Given the description of an element on the screen output the (x, y) to click on. 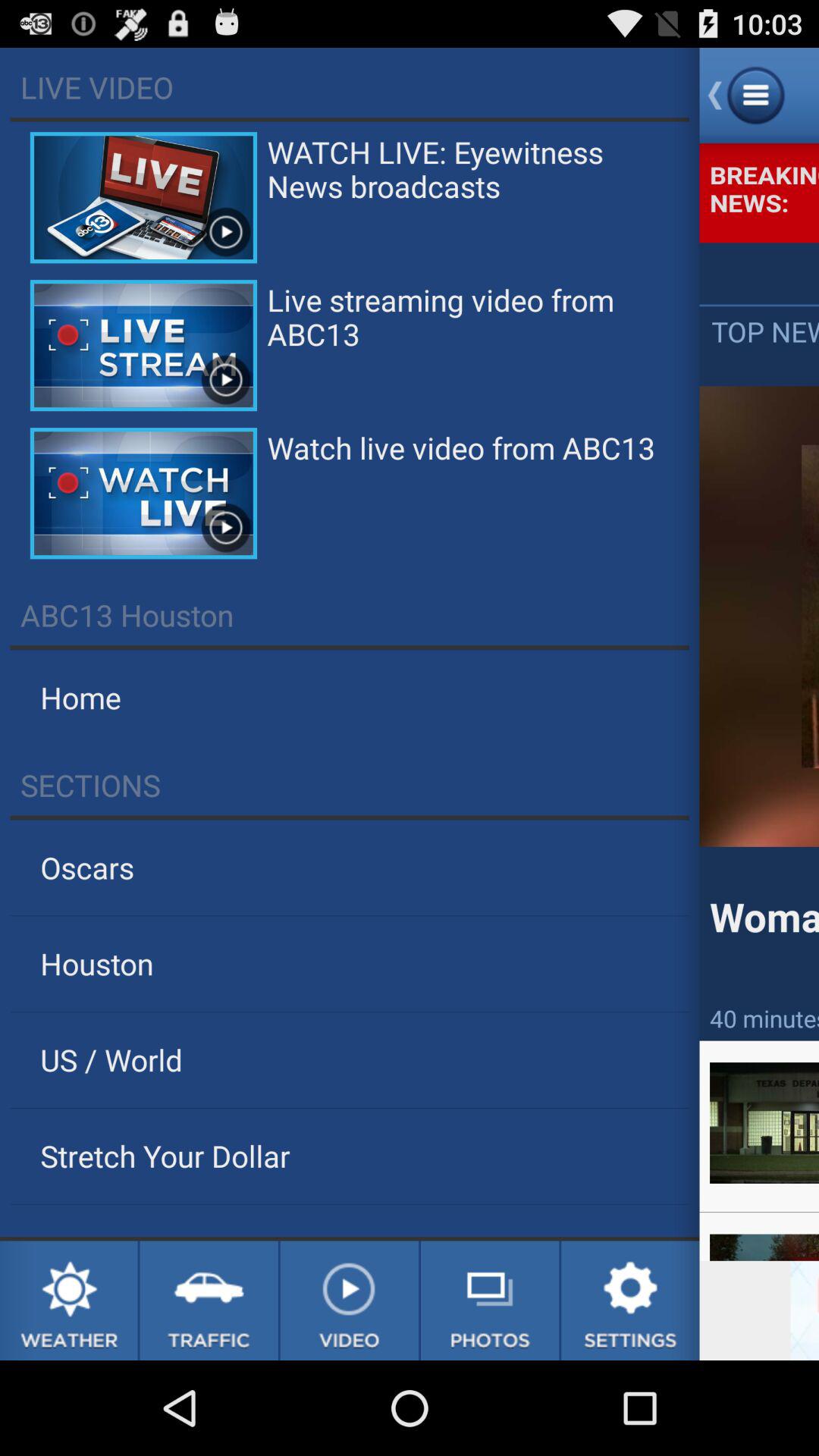
open photo library (489, 1300)
